Given the description of an element on the screen output the (x, y) to click on. 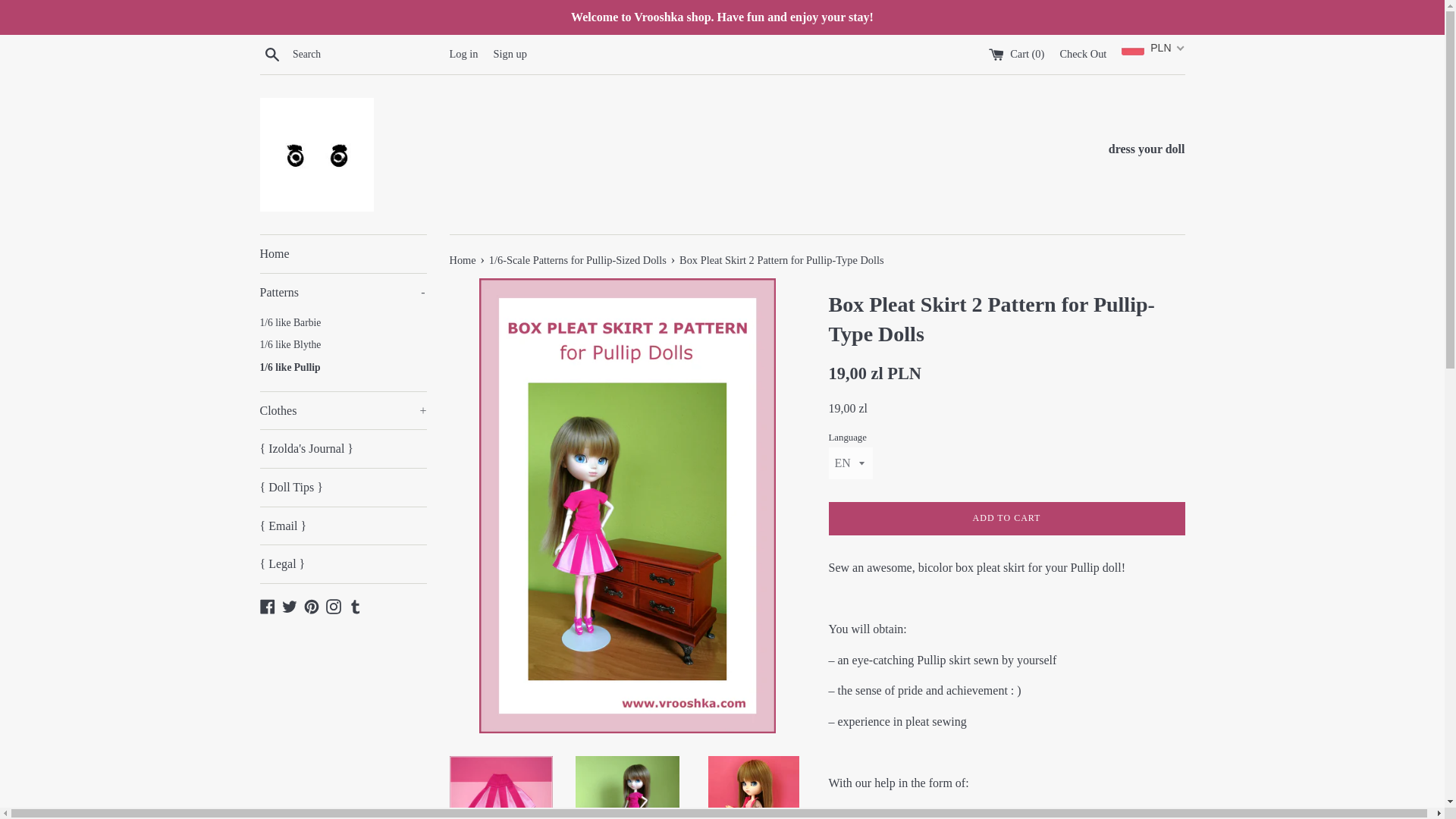
Sign up (510, 53)
Vrooshka on Pinterest (310, 604)
Vrooshka on Tumblr (354, 604)
Log in (462, 53)
Instagram (333, 604)
Facebook (267, 604)
Search (271, 53)
Pinterest (310, 604)
Check Out (1082, 53)
Vrooshka on Facebook (267, 604)
Home (342, 253)
Twitter (342, 292)
Vrooshka on Twitter (289, 604)
Back to the frontpage (289, 604)
